Given the description of an element on the screen output the (x, y) to click on. 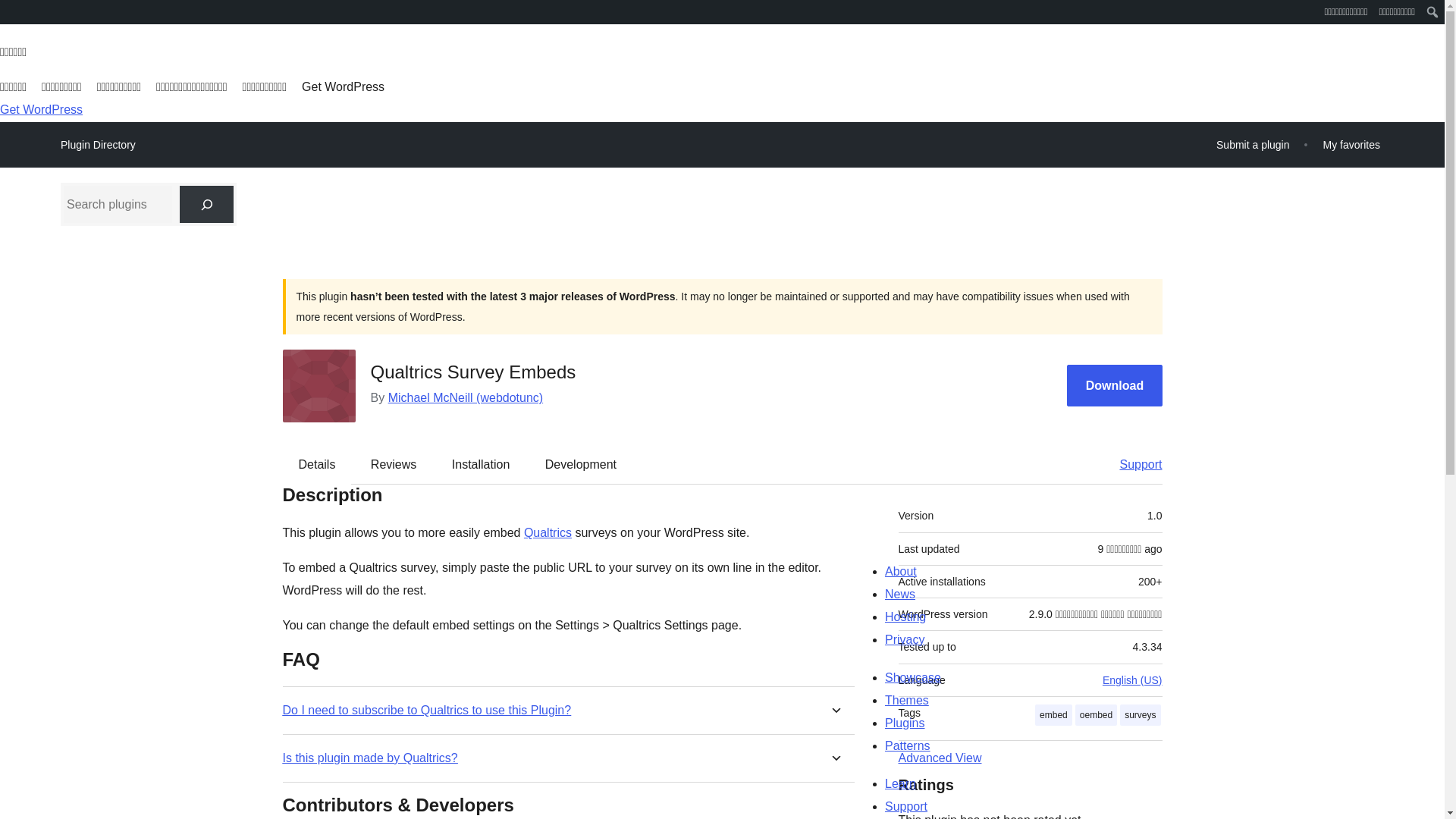
Is this plugin made by Qualtrics? (369, 757)
Submit a plugin (1253, 144)
Support (1132, 464)
Installation (480, 464)
Qualtrics (548, 532)
WordPress.org (10, 10)
Details (316, 464)
Development (580, 464)
Do I need to subscribe to Qualtrics to use this Plugin? (426, 709)
WordPress.org (10, 16)
